Given the description of an element on the screen output the (x, y) to click on. 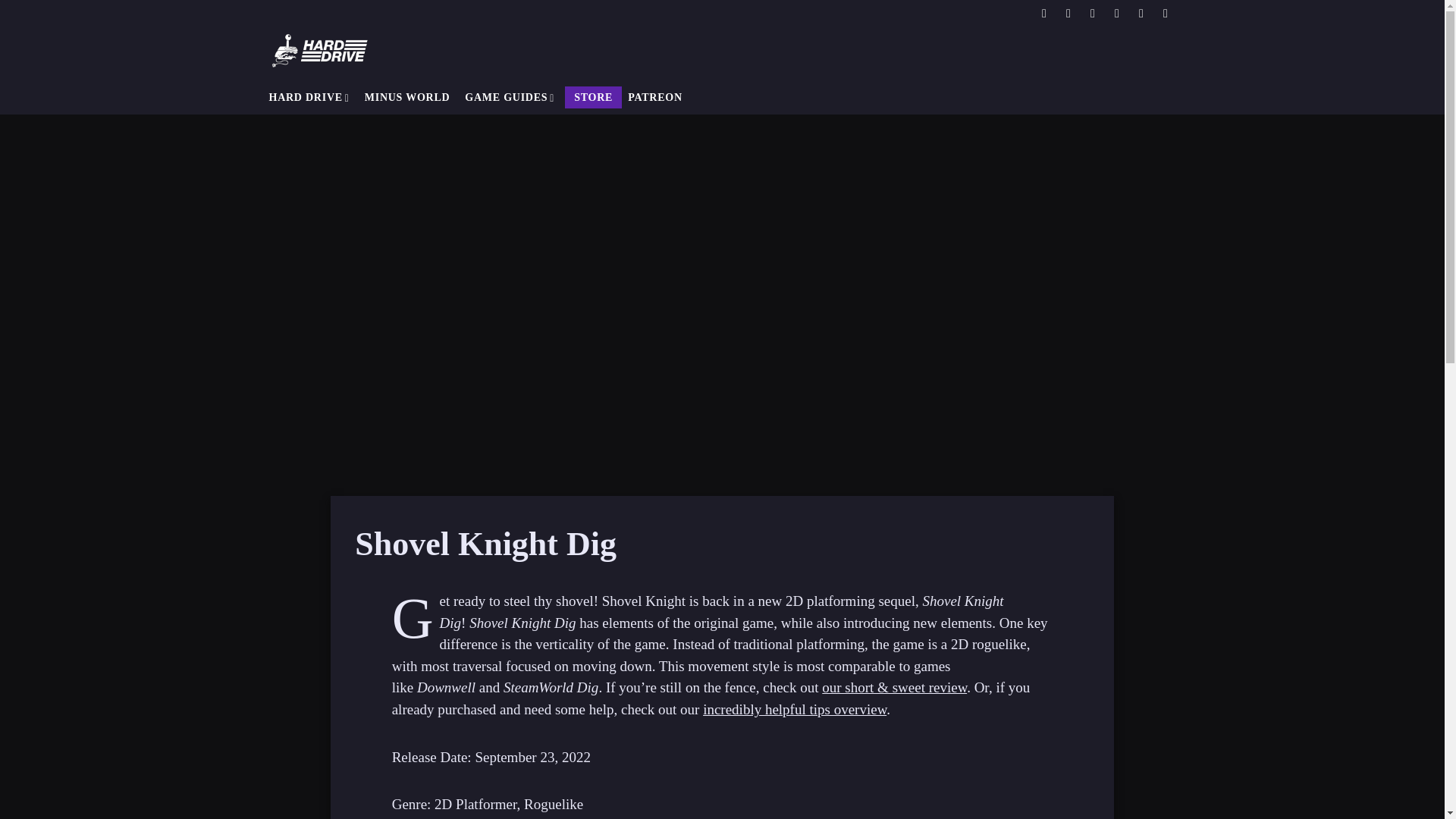
STORE (592, 97)
incredibly helpful tips overview (794, 709)
GAME GUIDES (509, 97)
PATREON (654, 97)
HARD DRIVE (308, 97)
MINUS WORLD (407, 97)
